Given the description of an element on the screen output the (x, y) to click on. 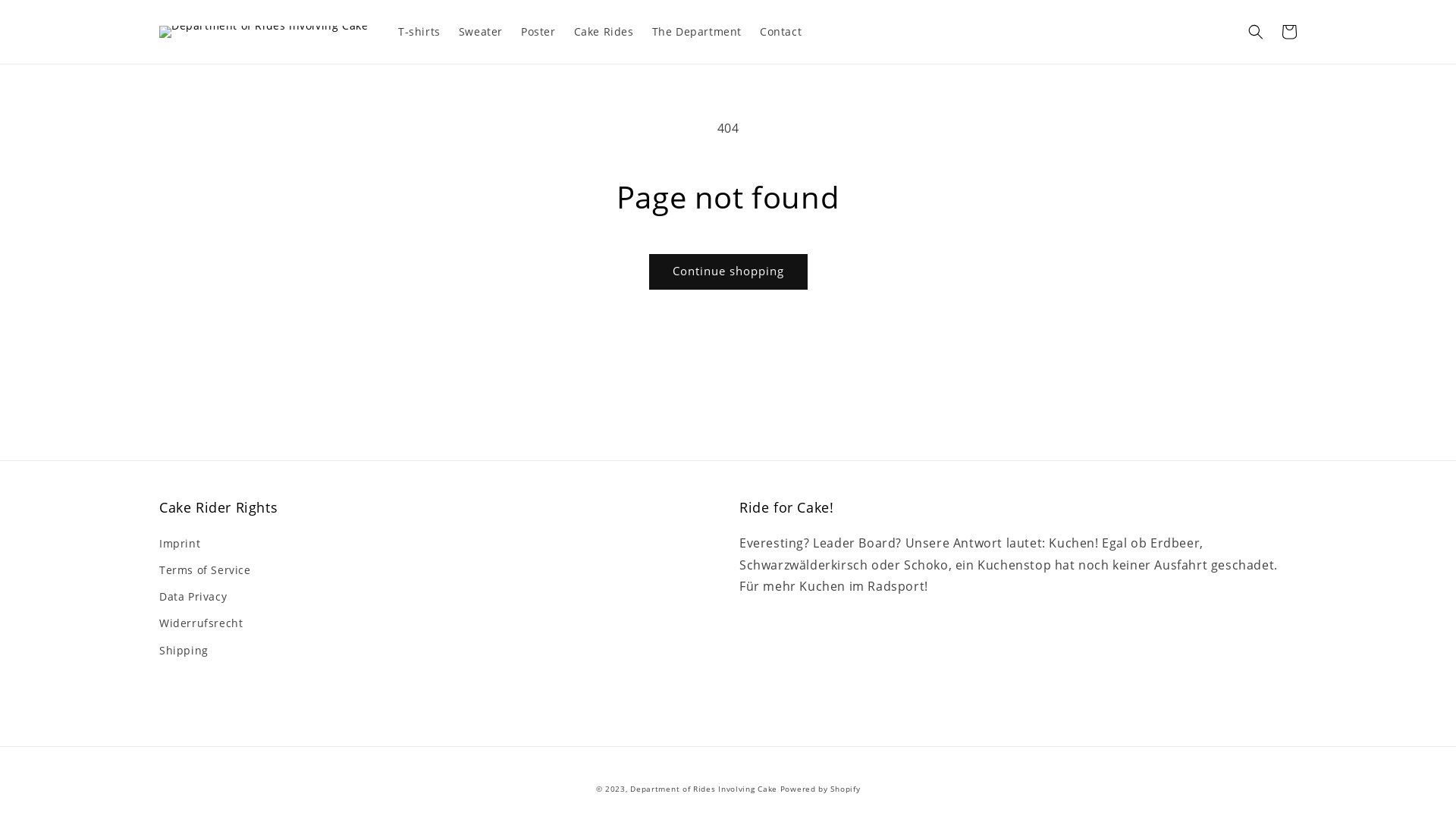
The Department Element type: text (696, 31)
Shipping Element type: text (183, 650)
Contact Element type: text (780, 31)
Data Privacy Element type: text (192, 596)
T-shirts Element type: text (419, 31)
Cart Element type: text (1288, 31)
Poster Element type: text (537, 31)
Sweater Element type: text (480, 31)
Imprint Element type: text (179, 544)
Department of Rides Involving Cake Element type: text (703, 788)
Terms of Service Element type: text (205, 569)
Continue shopping Element type: text (727, 271)
Widerrufsrecht Element type: text (200, 622)
Cake Rides Element type: text (603, 31)
